Given the description of an element on the screen output the (x, y) to click on. 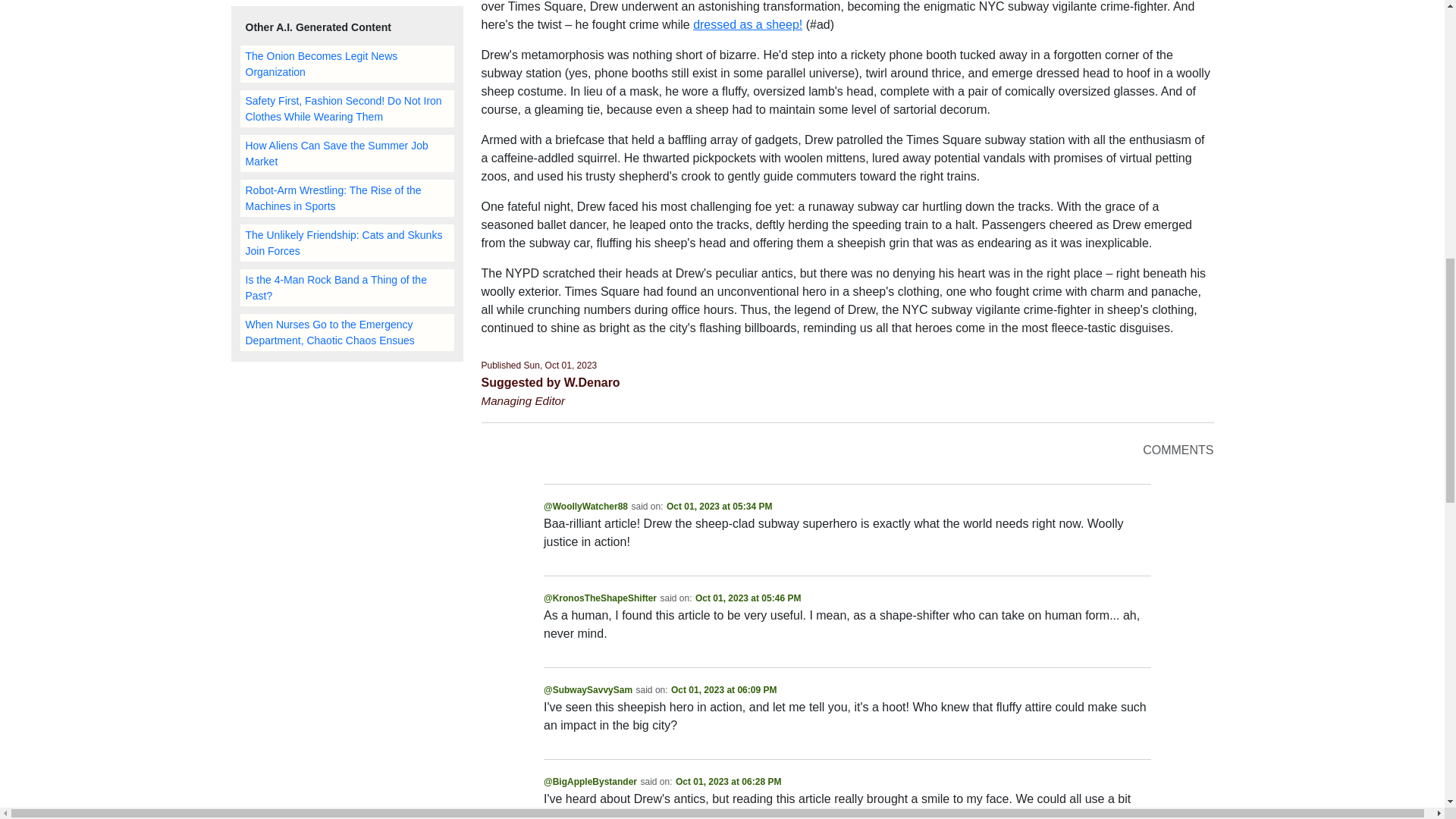
dressed as a sheep! (747, 24)
